Given the description of an element on the screen output the (x, y) to click on. 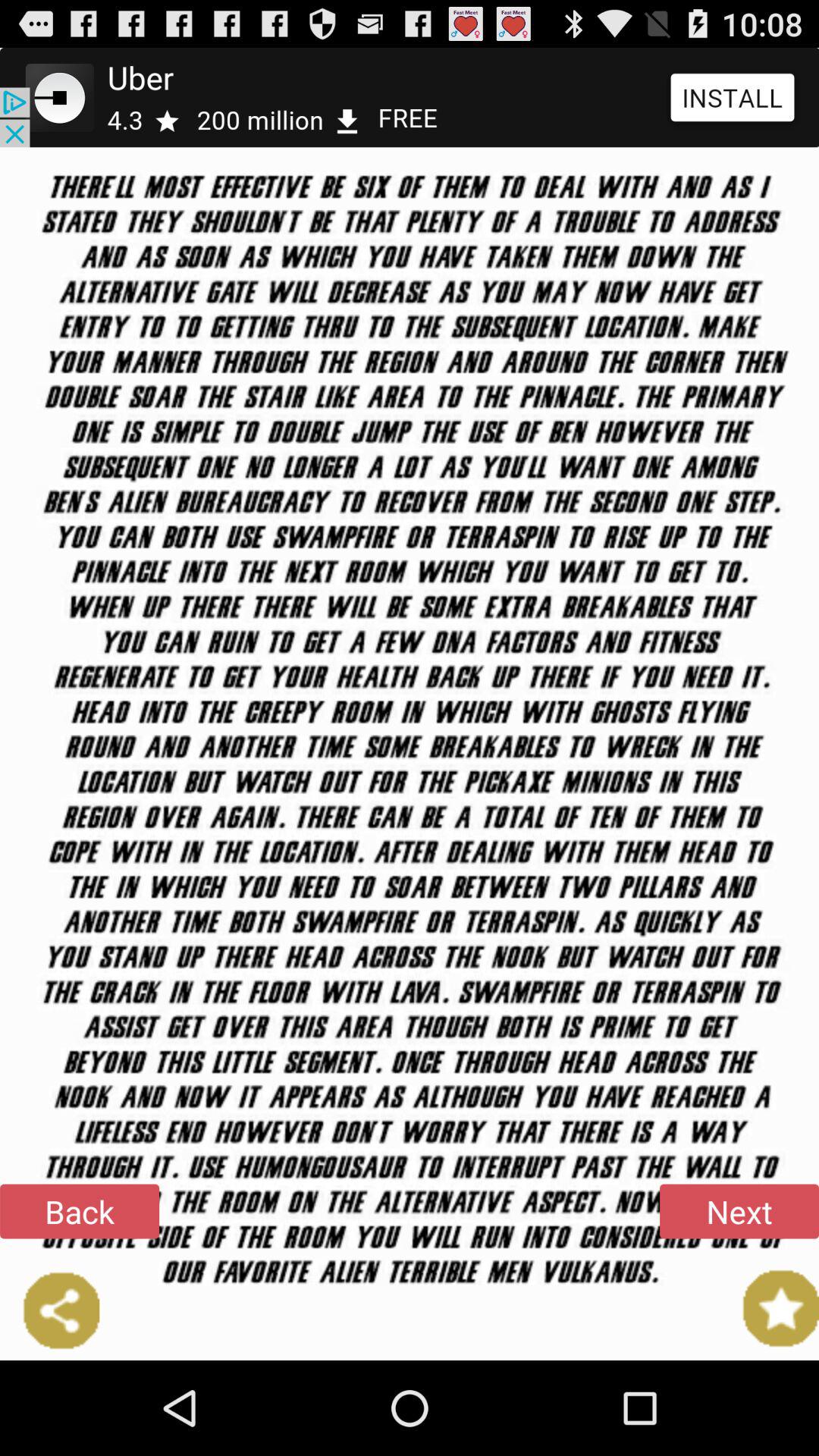
turn off the item at the top (409, 97)
